Given the description of an element on the screen output the (x, y) to click on. 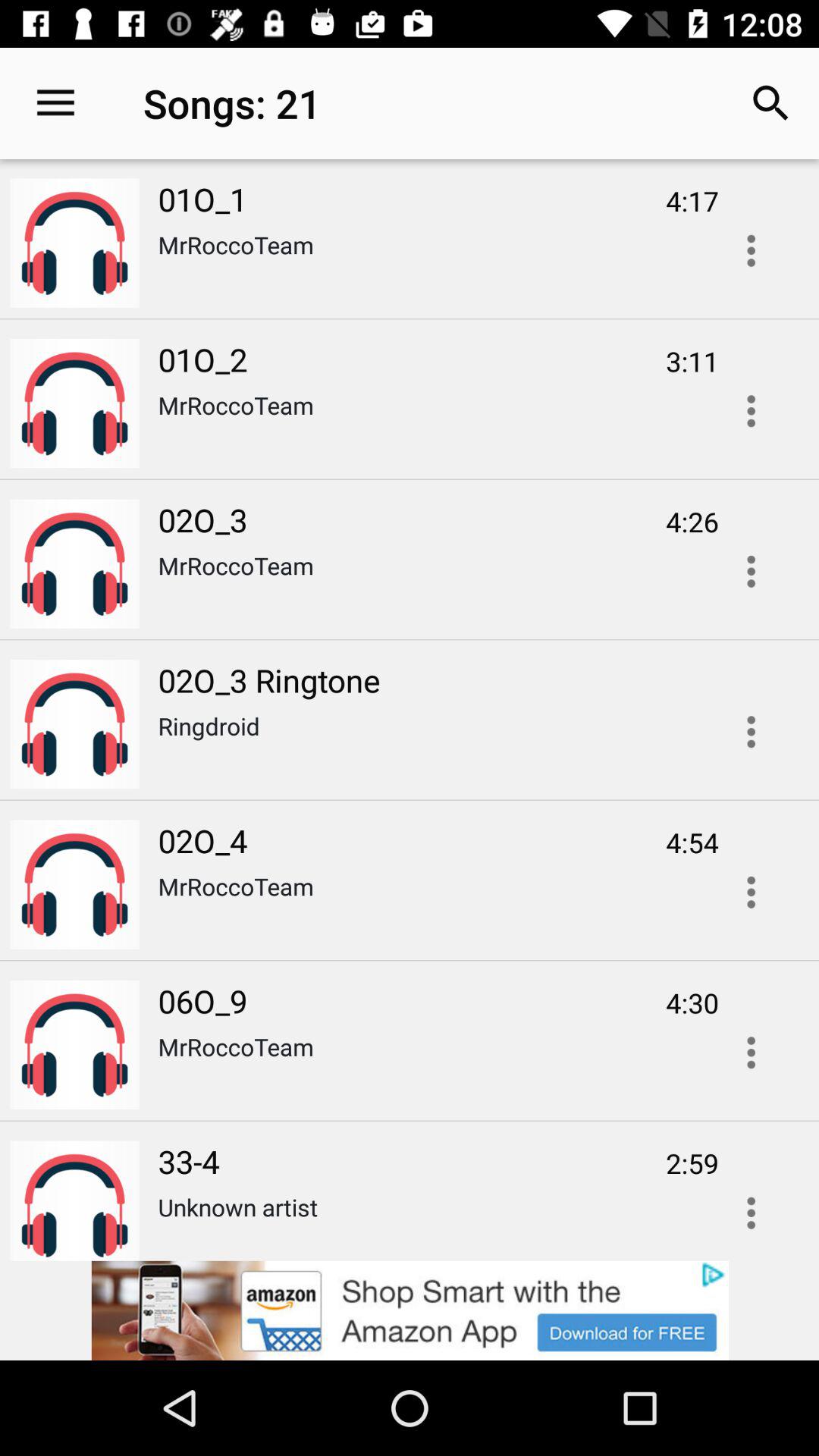
open more settings (750, 1207)
